Given the description of an element on the screen output the (x, y) to click on. 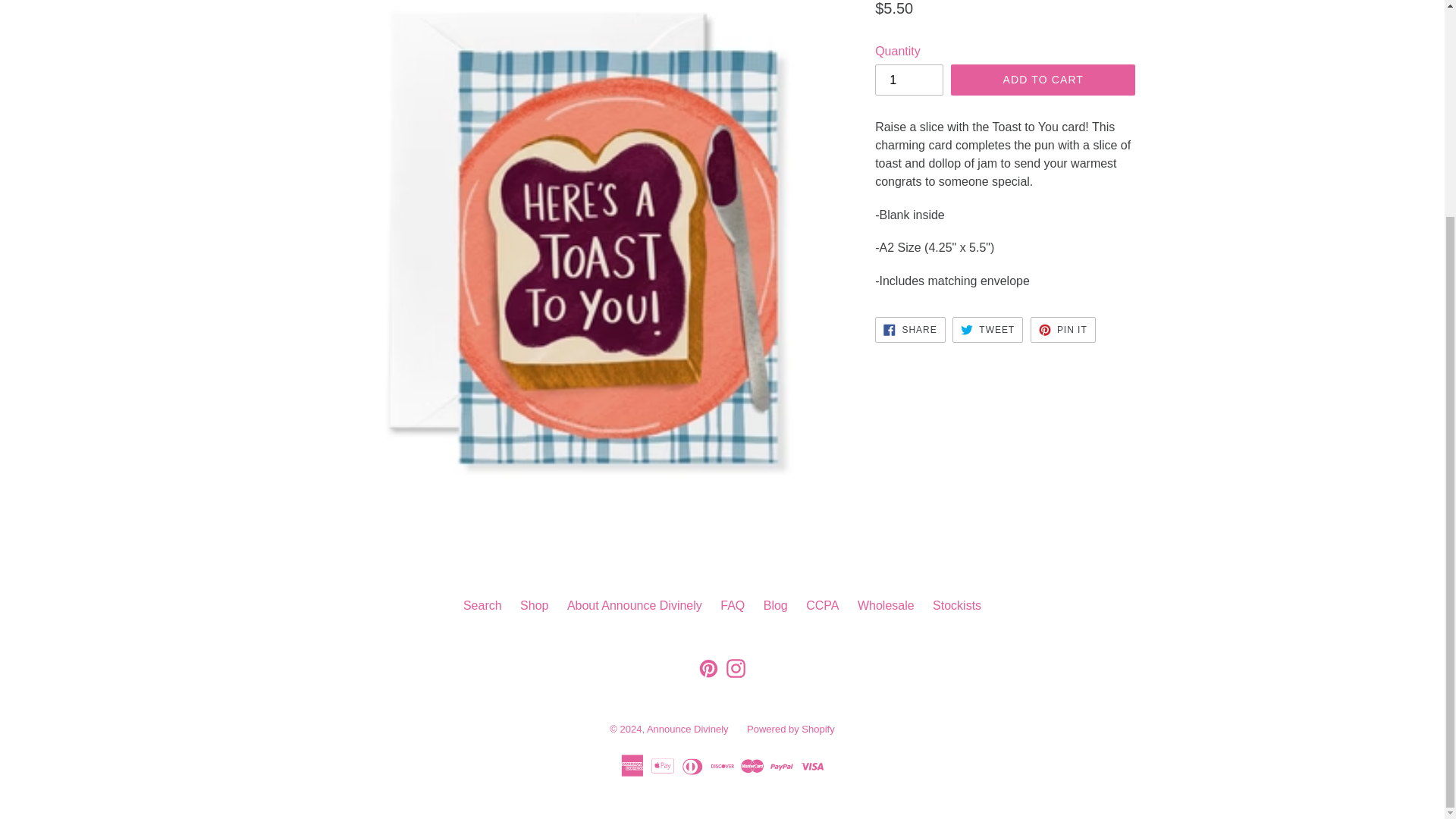
Share on Facebook (909, 329)
1 (909, 79)
Tweet on Twitter (987, 329)
Pin on Pinterest (1063, 329)
Announce Divinely on Pinterest (708, 668)
Announce Divinely on Instagram (735, 668)
